Given the description of an element on the screen output the (x, y) to click on. 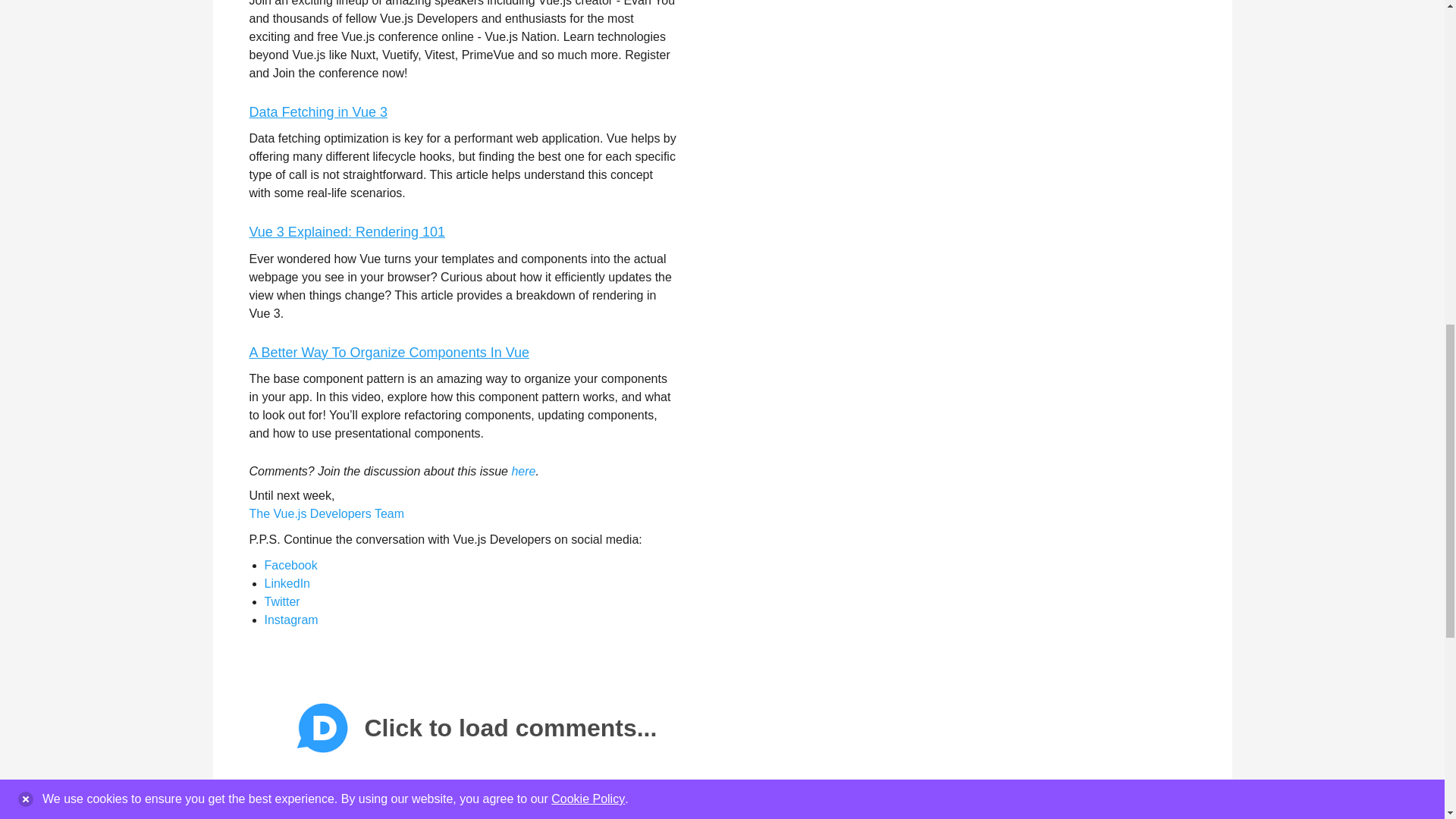
Data Fetching in Vue 3 (317, 111)
A Better Way To Organize Components In Vue (388, 352)
Vue 3 Explained: Rendering 101 (346, 231)
here (523, 471)
Facebook (290, 564)
The Vue.js Developers Team (326, 513)
